Given the description of an element on the screen output the (x, y) to click on. 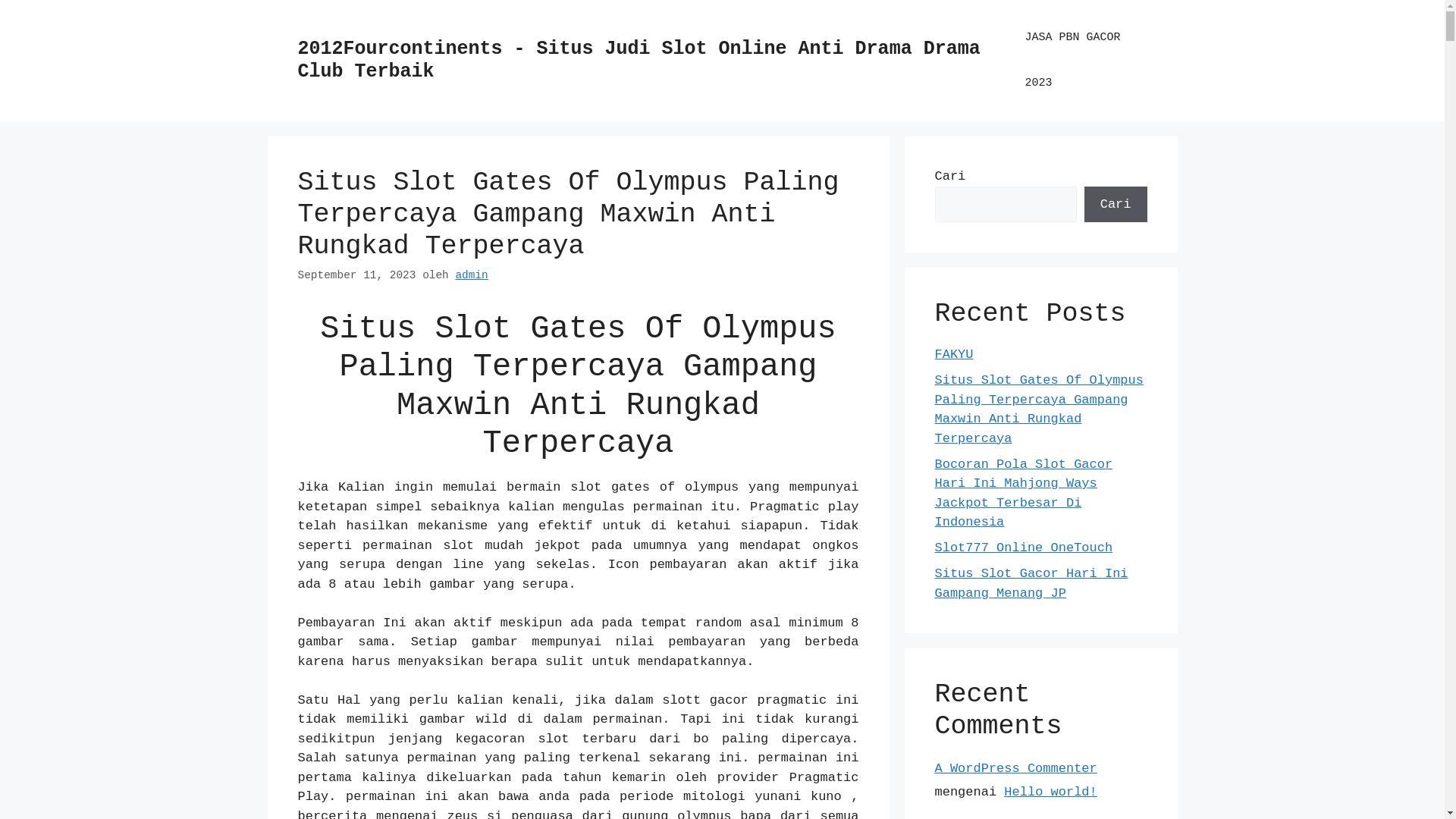
Situs Slot Gacor Hari Ini Gampang Menang JP Element type: text (1030, 583)
JASA PBN GACOR 2023 Element type: text (1078, 60)
Hello world! Element type: text (1050, 791)
FAKYU Element type: text (953, 354)
A WordPress Commenter Element type: text (1015, 768)
Cari Element type: text (1115, 204)
admin Element type: text (471, 275)
Slot777 Online OneTouch Element type: text (1023, 547)
